Given the description of an element on the screen output the (x, y) to click on. 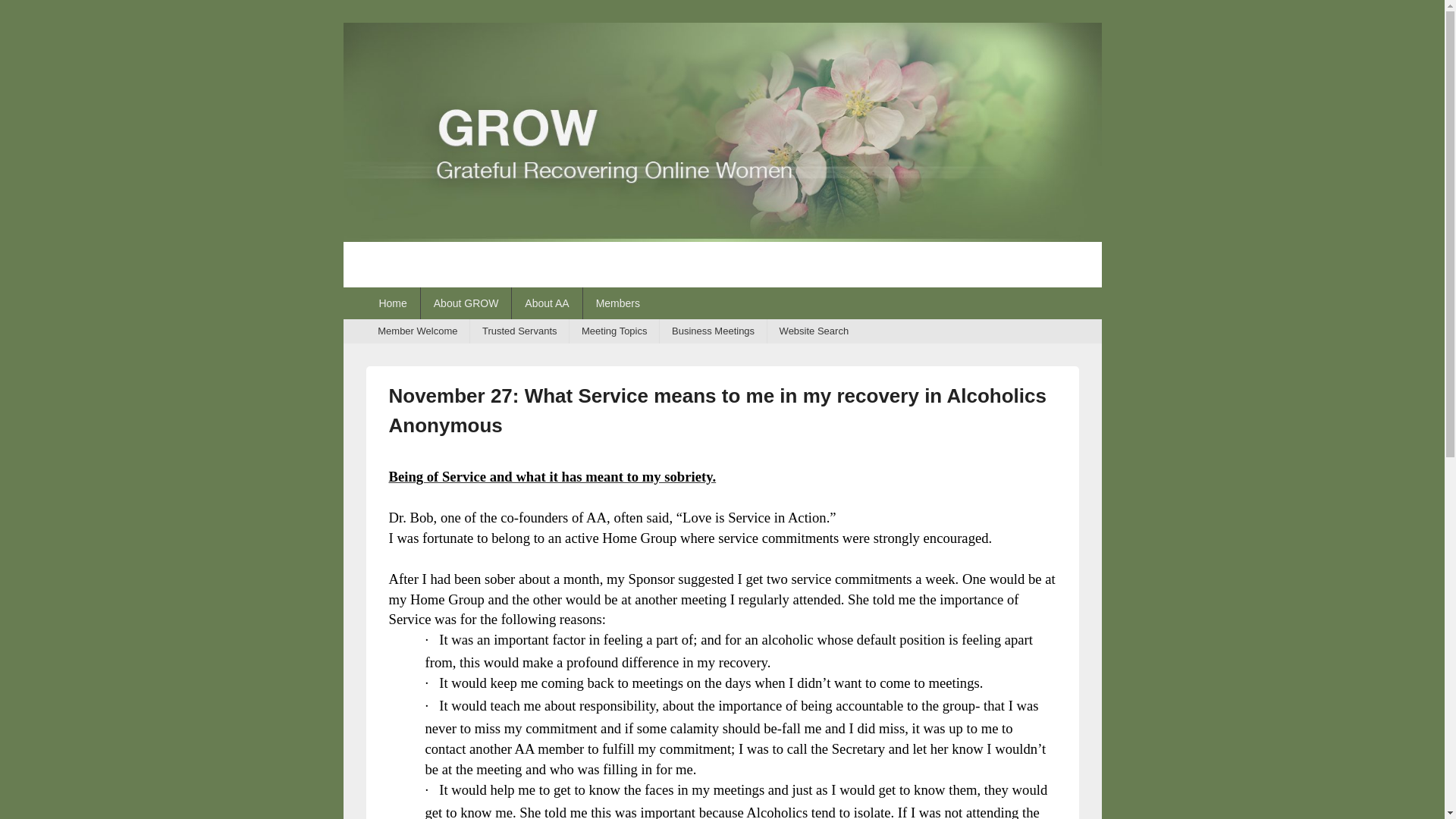
Members (617, 303)
Member Welcome (416, 331)
Trusted Servants (519, 331)
About AA (546, 303)
About GROW (466, 303)
GROW (721, 237)
Home (392, 303)
